Given the description of an element on the screen output the (x, y) to click on. 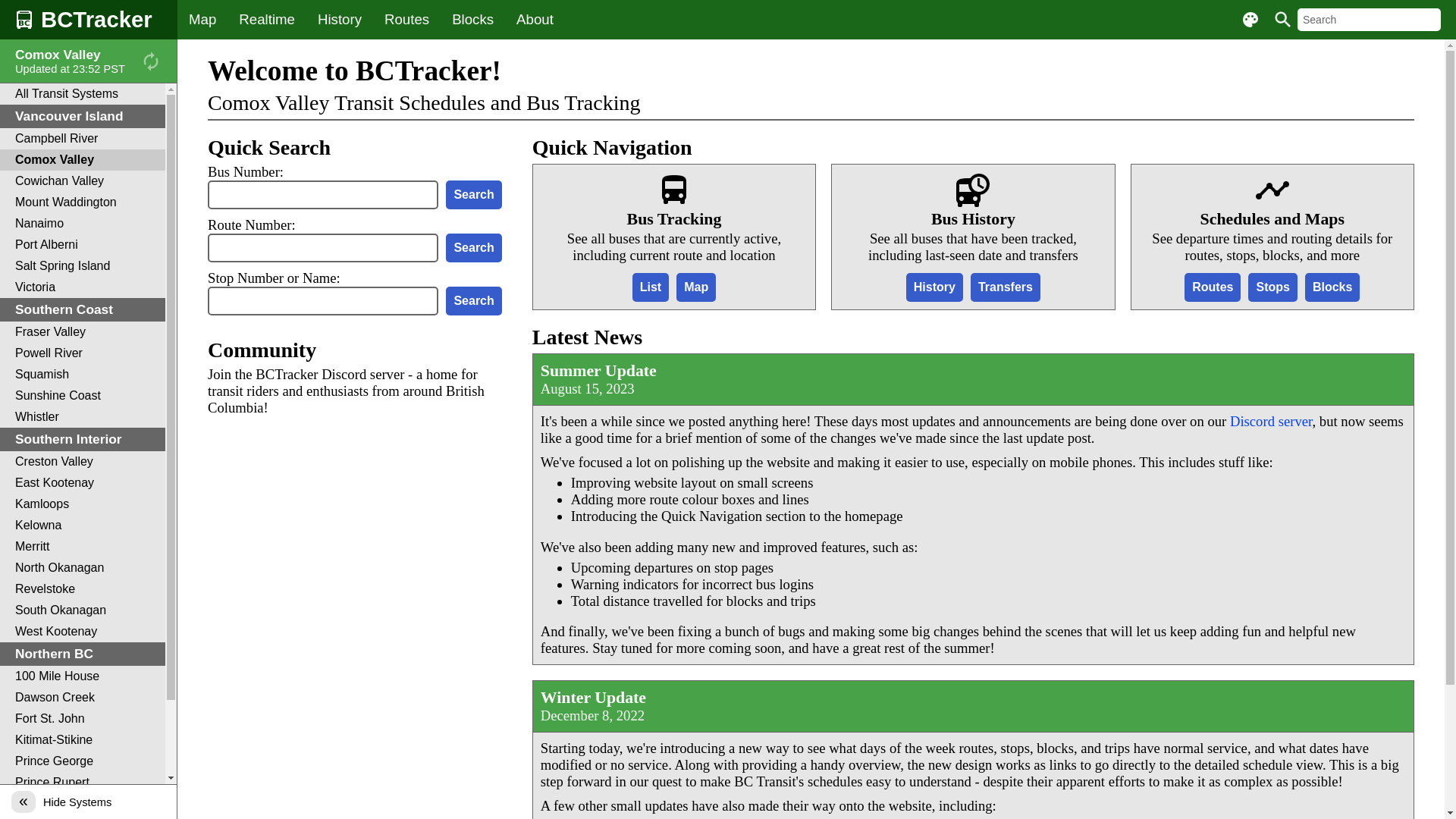
Whistler Element type: text (82, 416)
Kamloops Element type: text (82, 503)
All Transit Systems Element type: text (82, 93)
East Kootenay Element type: text (82, 482)
Nanaimo Element type: text (82, 223)
Prince George Element type: text (82, 760)
Realtime Element type: text (266, 19)
Map Element type: text (695, 287)
Transfers Element type: text (1005, 287)
List Element type: text (650, 287)
Kitimat-Stikine Element type: text (82, 739)
Dawson Creek Element type: text (82, 697)
Mount Waddington Element type: text (82, 202)
Port Alberni Element type: text (82, 244)
North Okanagan Element type: text (82, 567)
BCTracker Element type: text (88, 19)
South Okanagan Element type: text (82, 610)
Salt Spring Island Element type: text (82, 265)
Creston Valley Element type: text (82, 461)
Revelstoke Element type: text (82, 588)
100 Mile House Element type: text (82, 676)
Discord server Element type: text (1271, 421)
Kelowna Element type: text (82, 525)
History Element type: text (339, 19)
Victoria Element type: text (82, 287)
Search Element type: text (473, 194)
Sunshine Coast Element type: text (82, 395)
About Element type: text (534, 19)
History Element type: text (934, 287)
Fort St. John Element type: text (82, 718)
Routes Element type: text (406, 19)
Search Element type: text (473, 247)
West Kootenay Element type: text (82, 631)
Fraser Valley Element type: text (82, 331)
Blocks Element type: text (1332, 287)
Powell River Element type: text (82, 353)
Routes Element type: text (1212, 287)
Merritt Element type: text (82, 546)
Cowichan Valley Element type: text (82, 180)
Squamish Element type: text (82, 374)
Campbell River Element type: text (82, 138)
Search Element type: text (473, 300)
Blocks Element type: text (472, 19)
Quesnel Element type: text (82, 803)
Stops Element type: text (1272, 287)
Map Element type: text (202, 19)
Prince Rupert Element type: text (82, 782)
